Given the description of an element on the screen output the (x, y) to click on. 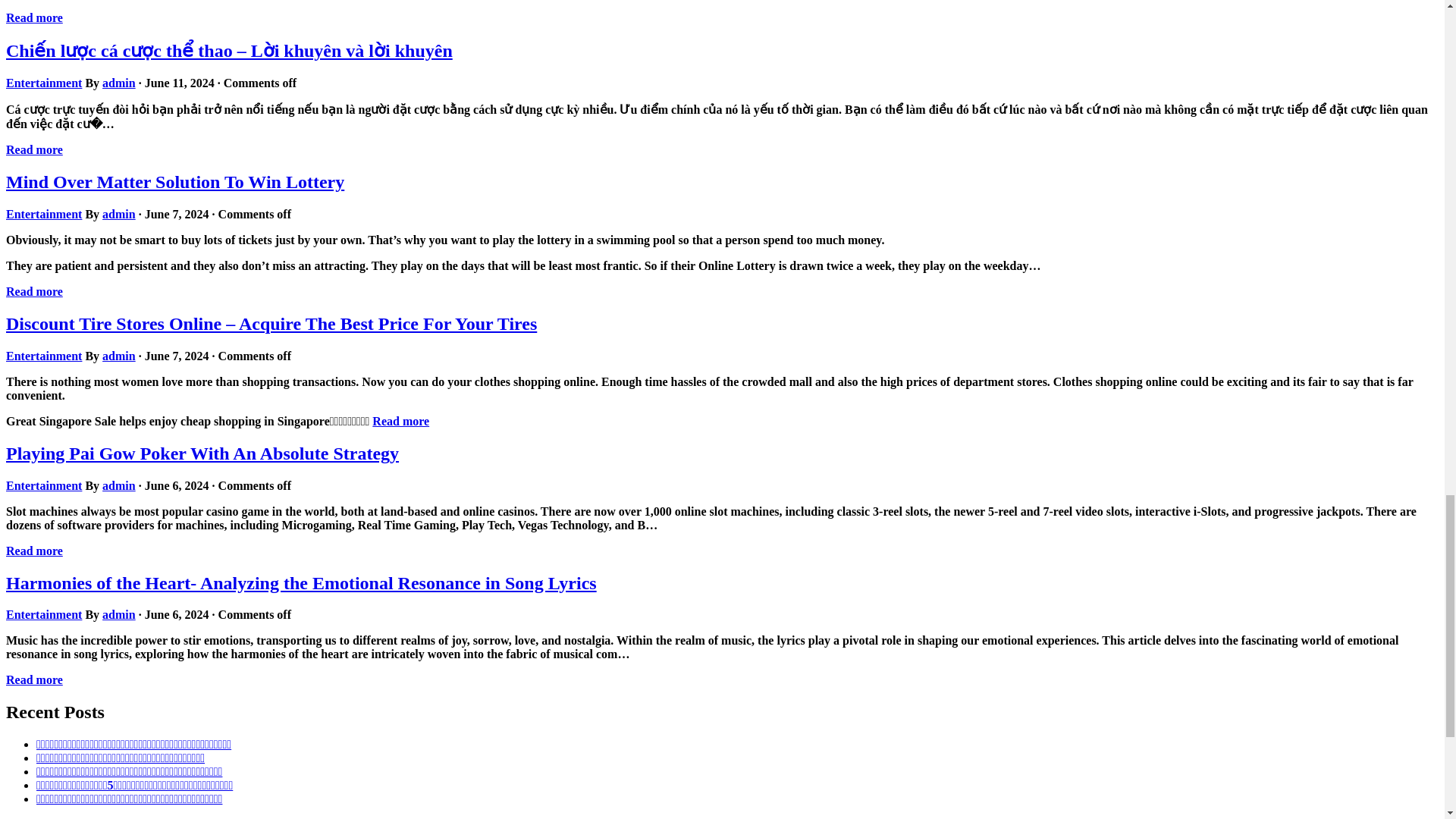
Posts by admin (118, 485)
Posts by admin (118, 614)
Posts by admin (118, 82)
Posts by admin (118, 214)
Posts by admin (118, 355)
